Given the description of an element on the screen output the (x, y) to click on. 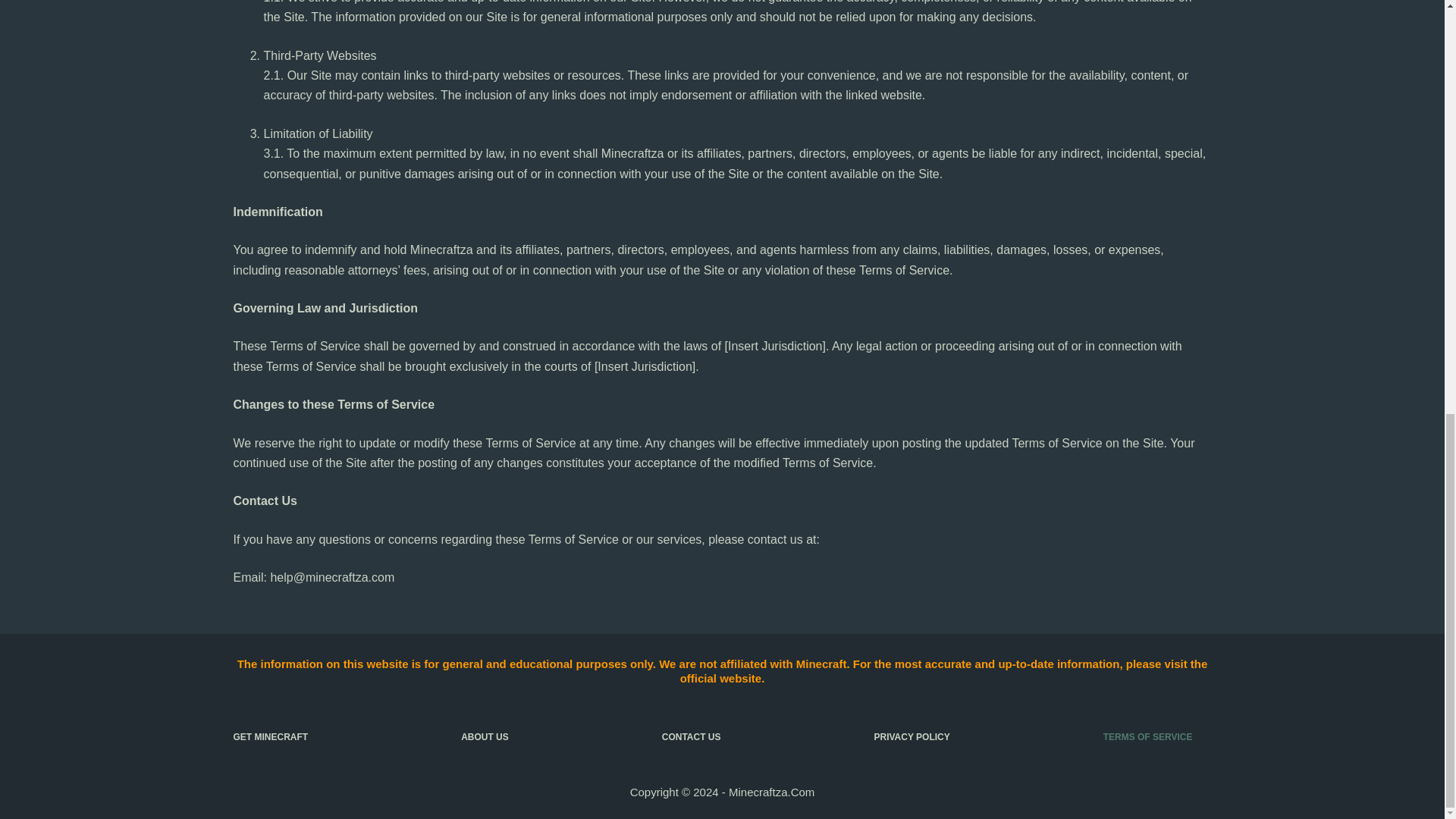
GET MINECRAFT (270, 737)
CONTACT US (691, 737)
TERMS OF SERVICE (1147, 737)
PRIVACY POLICY (911, 737)
ABOUT US (484, 737)
